Given the description of an element on the screen output the (x, y) to click on. 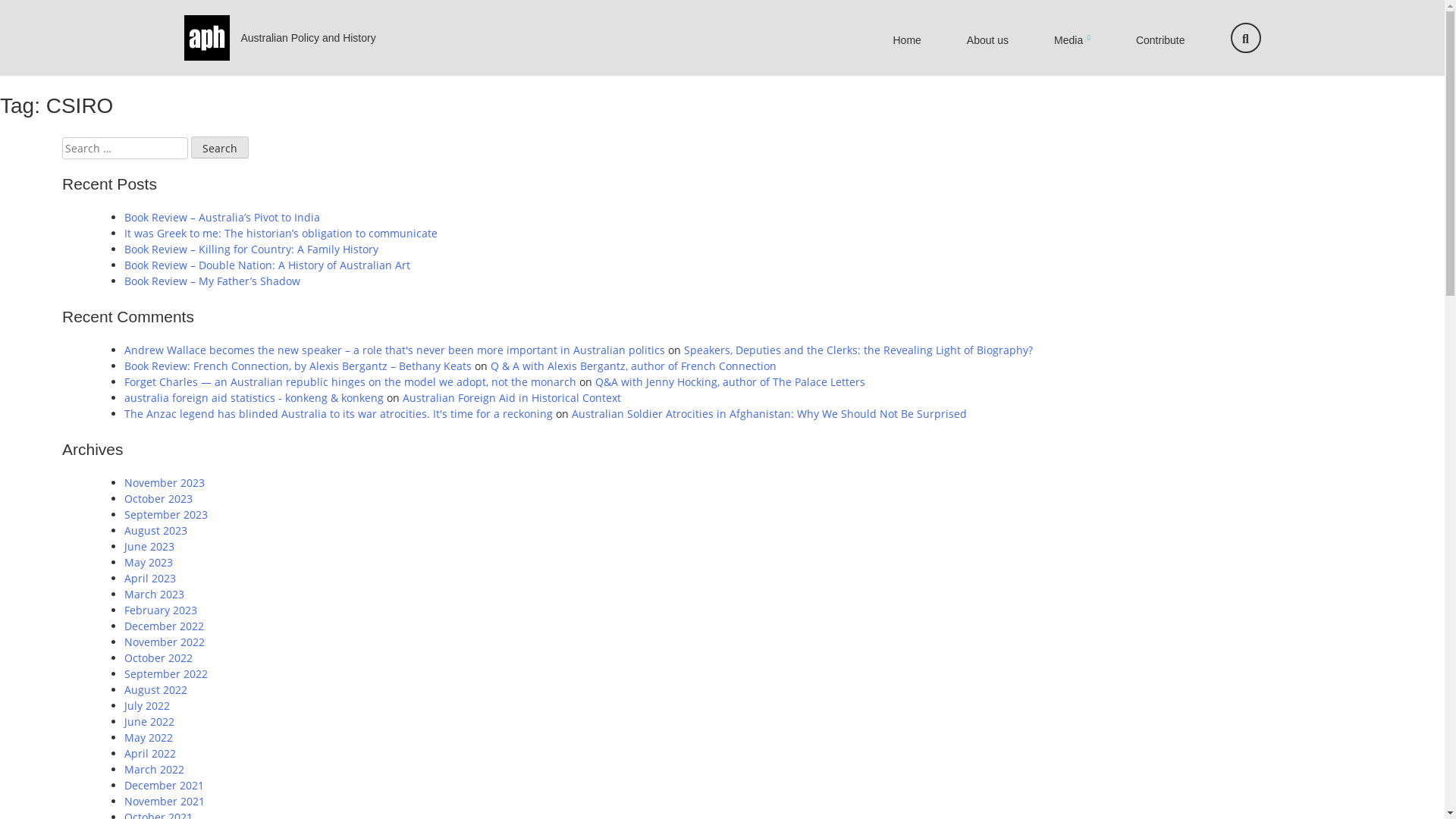
Australian Foreign Aid in Historical Context Element type: text (511, 397)
Search Element type: text (219, 147)
australia foreign aid statistics - konkeng & konkeng Element type: text (253, 397)
Contribute Element type: text (1160, 39)
September 2023 Element type: text (165, 514)
Media Element type: text (1072, 39)
April 2023 Element type: text (149, 578)
February 2023 Element type: text (160, 609)
April 2022 Element type: text (149, 753)
December 2022 Element type: text (163, 625)
July 2022 Element type: text (146, 705)
November 2023 Element type: text (164, 482)
March 2022 Element type: text (154, 769)
Australian Policy and History Element type: text (308, 38)
May 2023 Element type: text (148, 562)
September 2022 Element type: text (165, 673)
March 2023 Element type: text (154, 593)
Home Element type: text (906, 39)
August 2022 Element type: text (155, 689)
October 2023 Element type: text (158, 498)
December 2021 Element type: text (163, 785)
May 2022 Element type: text (148, 737)
June 2022 Element type: text (149, 721)
November 2022 Element type: text (164, 641)
June 2023 Element type: text (149, 546)
About us Element type: text (987, 39)
Q & A with Alexis Bergantz, author of French Connection Element type: text (633, 365)
October 2022 Element type: text (158, 657)
Q&A with Jenny Hocking, author of The Palace Letters Element type: text (730, 381)
November 2021 Element type: text (164, 800)
August 2023 Element type: text (155, 530)
